Given the description of an element on the screen output the (x, y) to click on. 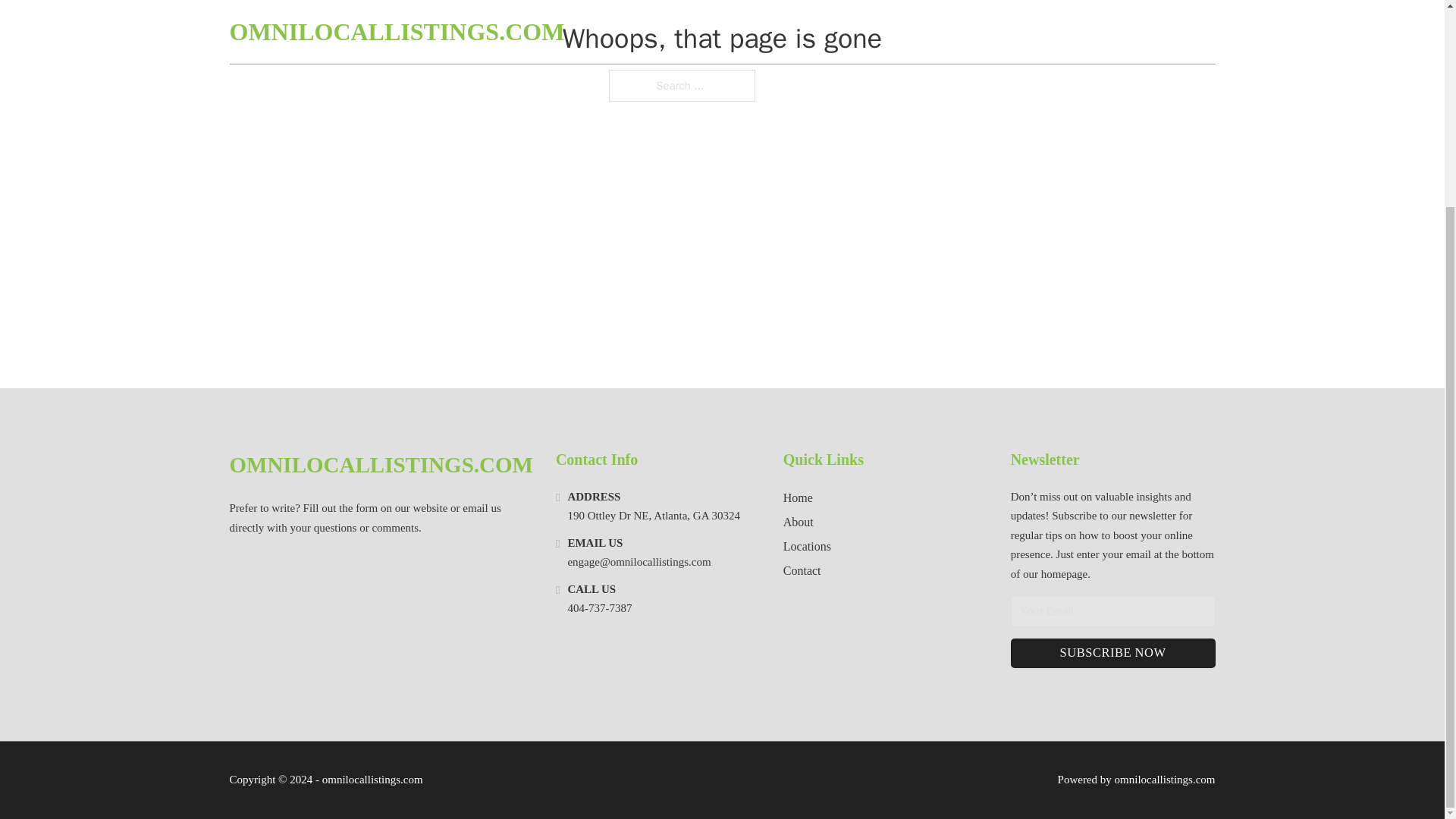
404-737-7387 (599, 607)
OMNILOCALLISTINGS.COM (380, 465)
About (798, 521)
Contact (802, 570)
Locations (807, 546)
SUBSCRIBE NOW (1112, 653)
Home (797, 497)
